Given the description of an element on the screen output the (x, y) to click on. 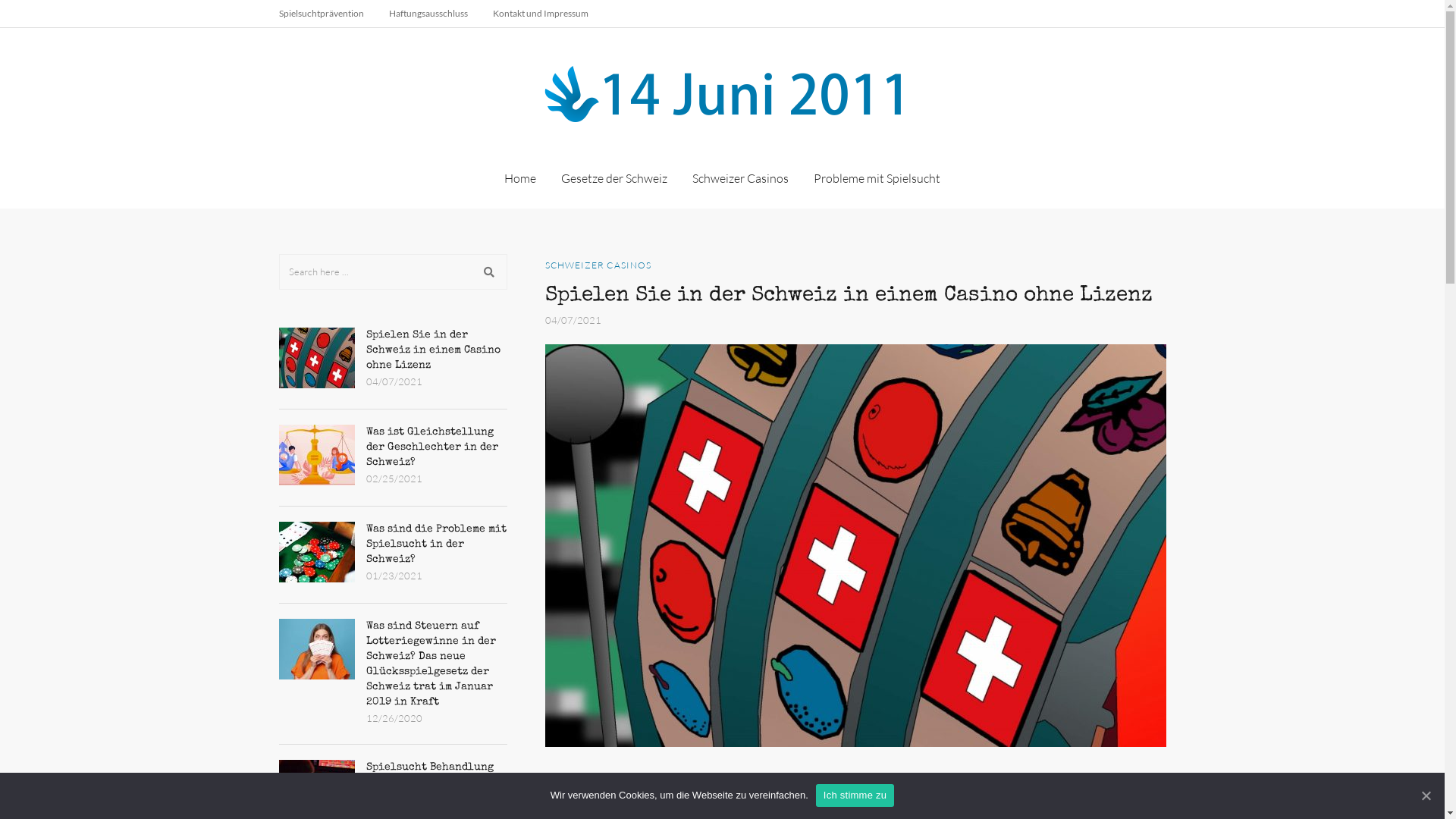
Gesetze der Schweiz Element type: text (614, 177)
Schweizer Casinos Element type: text (740, 177)
Was ist Gleichstellung der Geschlechter in der Schweiz? Element type: text (431, 446)
Spielen Sie in der Schweiz in einem Casino ohne Lizenz Element type: hover (316, 357)
Was sind die Probleme mit Spielsucht in der Schweiz? Element type: hover (316, 551)
Probleme mit Spielsucht Element type: text (876, 177)
Home Element type: text (520, 177)
Spielen Sie in der Schweiz in einem Casino ohne Lizenz Element type: text (847, 295)
Ich stimme zu Element type: text (854, 795)
Spielen Sie in der Schweiz in einem Casino ohne Lizenz Element type: hover (854, 545)
Kontakt und Impressum Element type: text (540, 12)
Was sind die Probleme mit Spielsucht in der Schweiz? Element type: text (435, 544)
Spielen Sie in der Schweiz in einem Casino ohne Lizenz Element type: text (432, 349)
Was ist Gleichstellung der Geschlechter in der Schweiz? Element type: hover (316, 454)
Haftungsausschluss Element type: text (427, 12)
SCHWEIZER CASINOS Element type: text (597, 264)
